Given the description of an element on the screen output the (x, y) to click on. 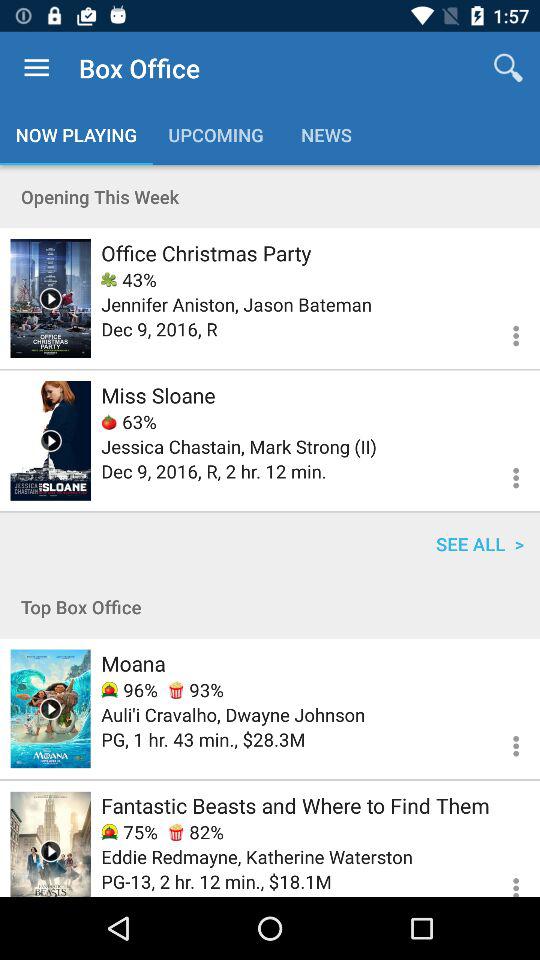
press the fantastic beasts and icon (295, 805)
